Given the description of an element on the screen output the (x, y) to click on. 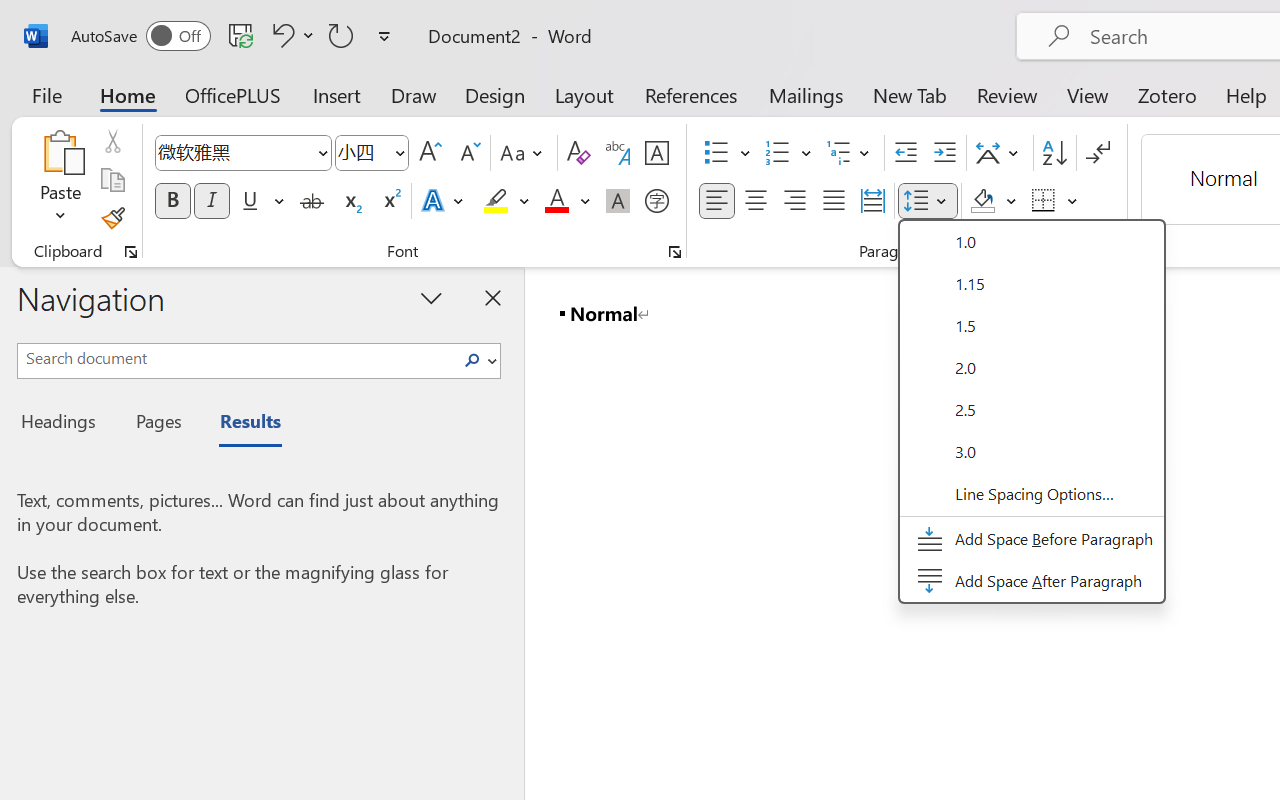
Search (471, 360)
Justify (834, 201)
Shading RGB(0, 0, 0) (982, 201)
Show/Hide Editing Marks (1098, 153)
Save (241, 35)
Font (234, 152)
Headings (64, 424)
Bold (172, 201)
Asian Layout (1000, 153)
Increase Indent (944, 153)
OfficePLUS (233, 94)
Distributed (872, 201)
Center (756, 201)
Format Painter (112, 218)
